Given the description of an element on the screen output the (x, y) to click on. 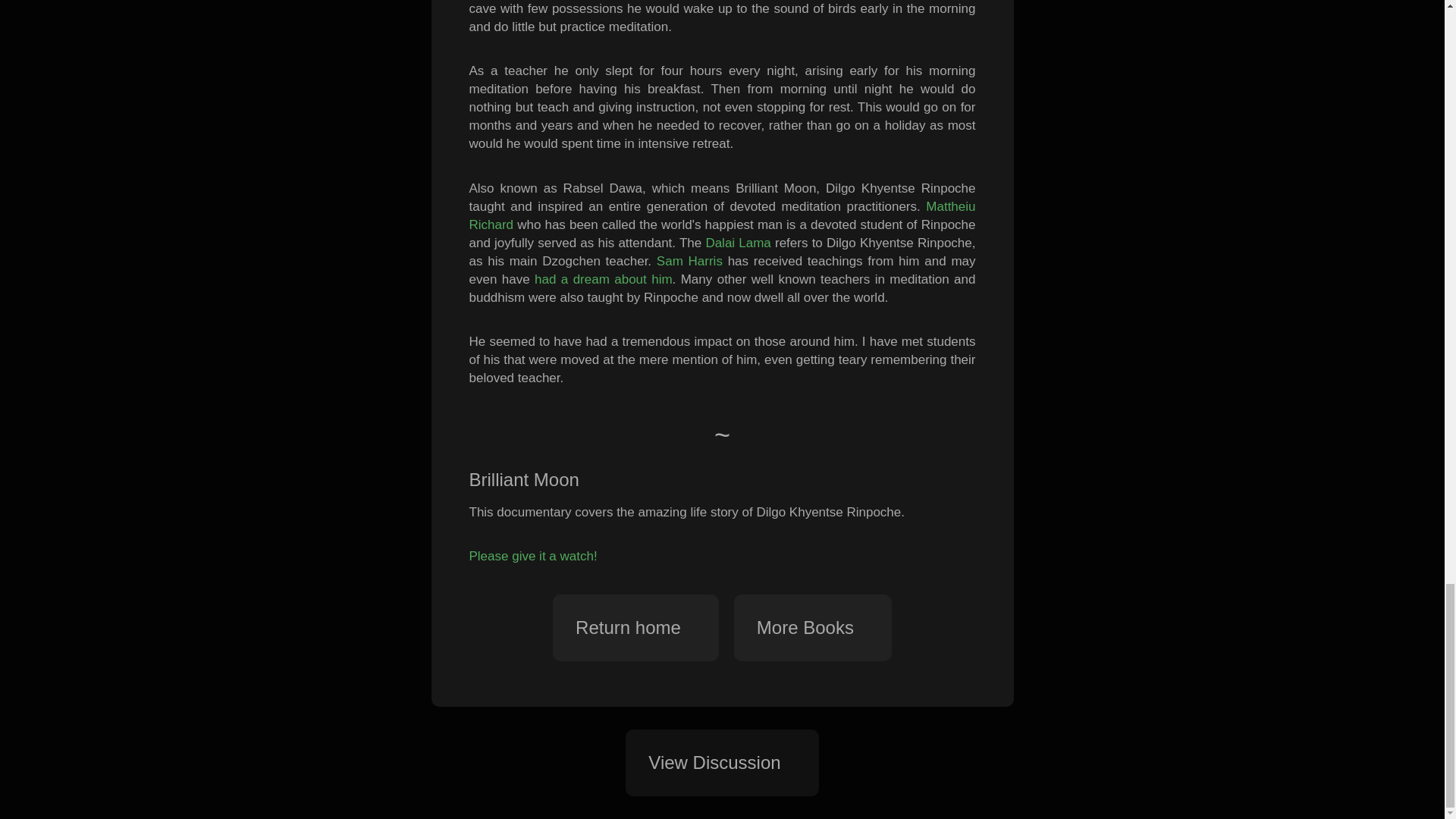
Please give it a watch! (532, 555)
Sam Harris (689, 260)
had a dream about him (603, 278)
More Books (812, 627)
Return home (636, 627)
Mattheiu Richard (721, 215)
Dalai Lama (737, 242)
View Discussion (722, 762)
